Given the description of an element on the screen output the (x, y) to click on. 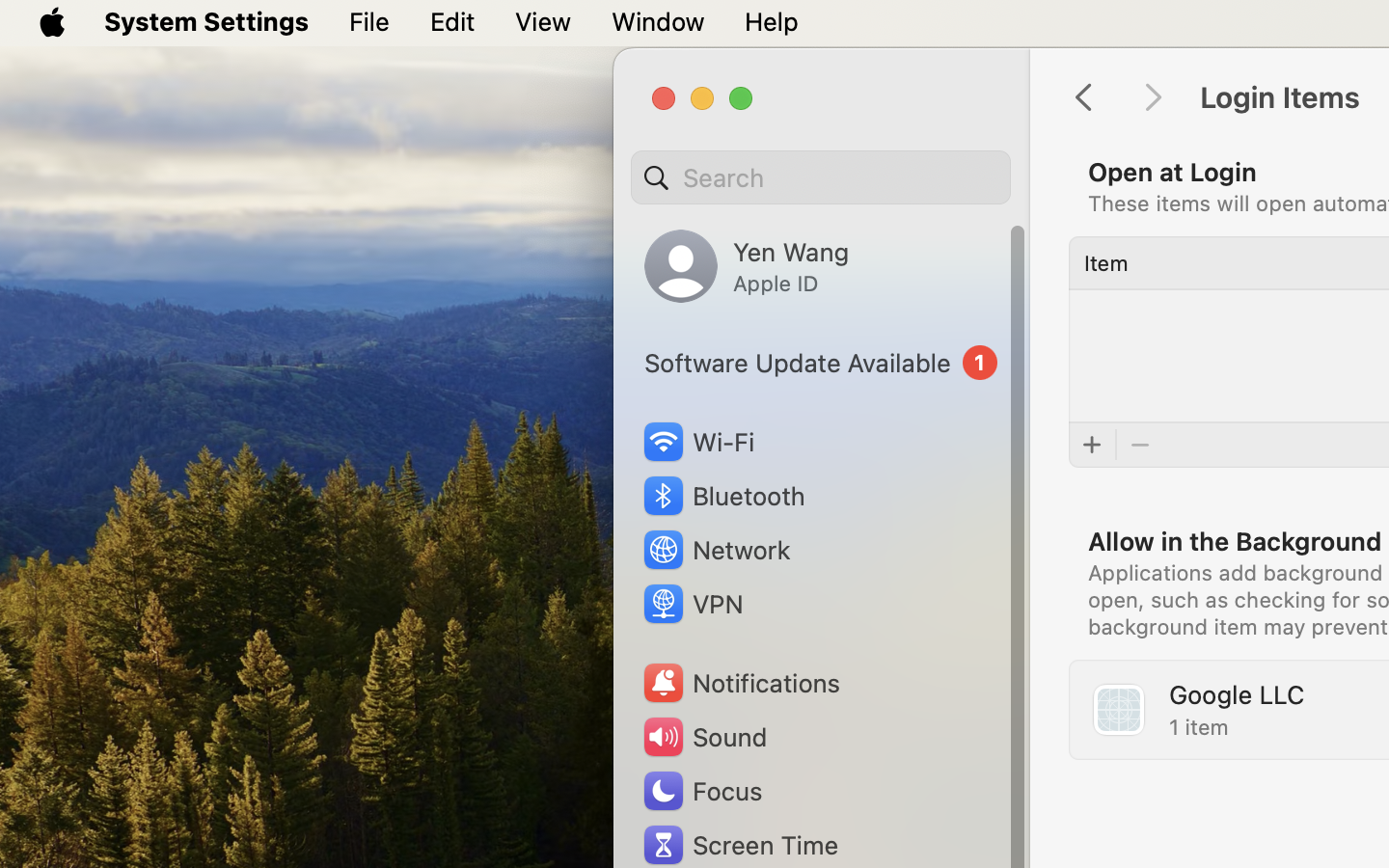
1 Element type: AXStaticText (820, 362)
Bluetooth Element type: AXStaticText (723, 495)
Focus Element type: AXStaticText (701, 790)
Yen Wang, Apple ID Element type: AXStaticText (746, 265)
1 item Element type: AXStaticText (1198, 726)
